Given the description of an element on the screen output the (x, y) to click on. 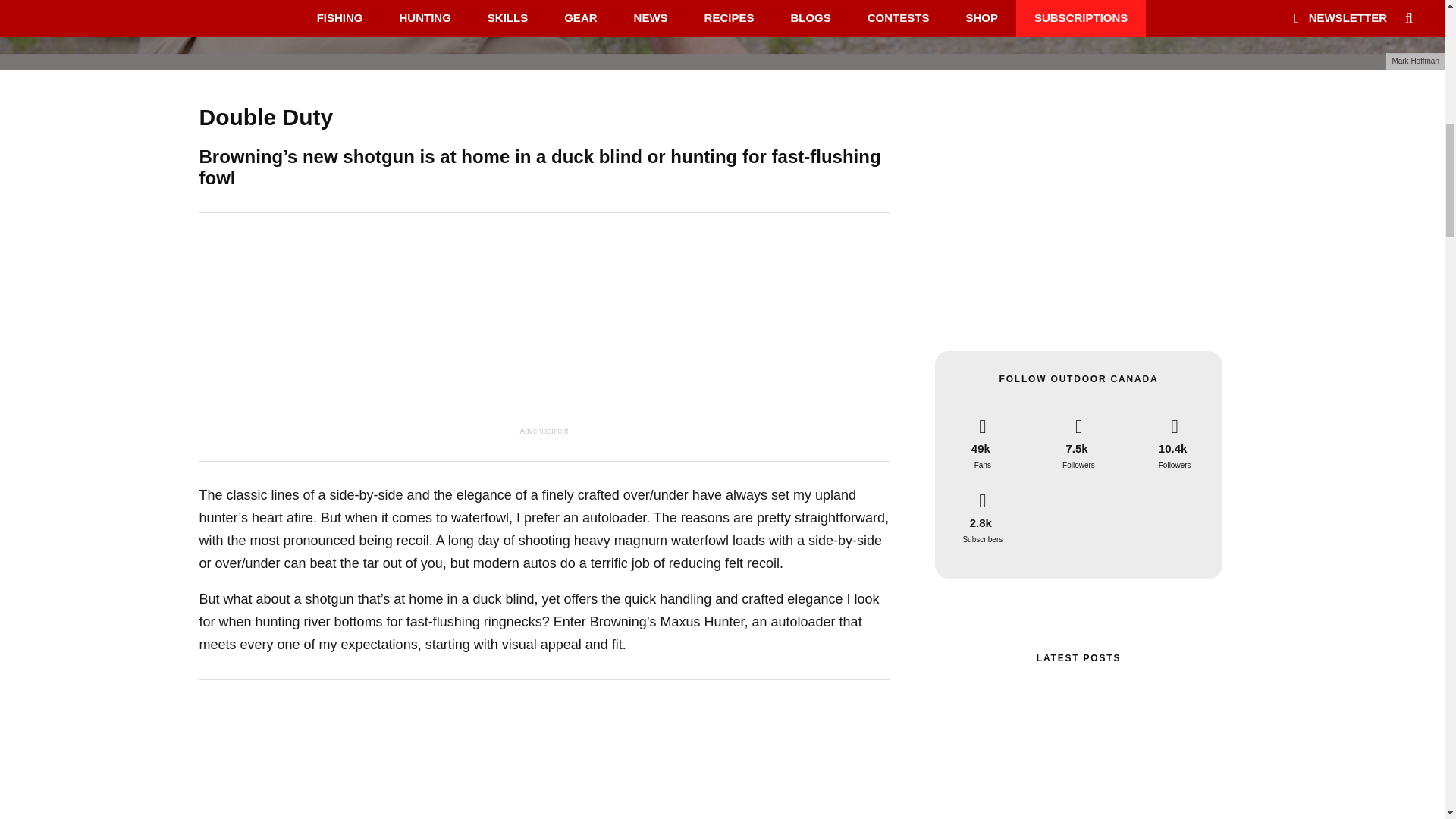
3rd party ad content (1077, 227)
3rd party ad content (544, 330)
3rd party ad content (544, 760)
